Given the description of an element on the screen output the (x, y) to click on. 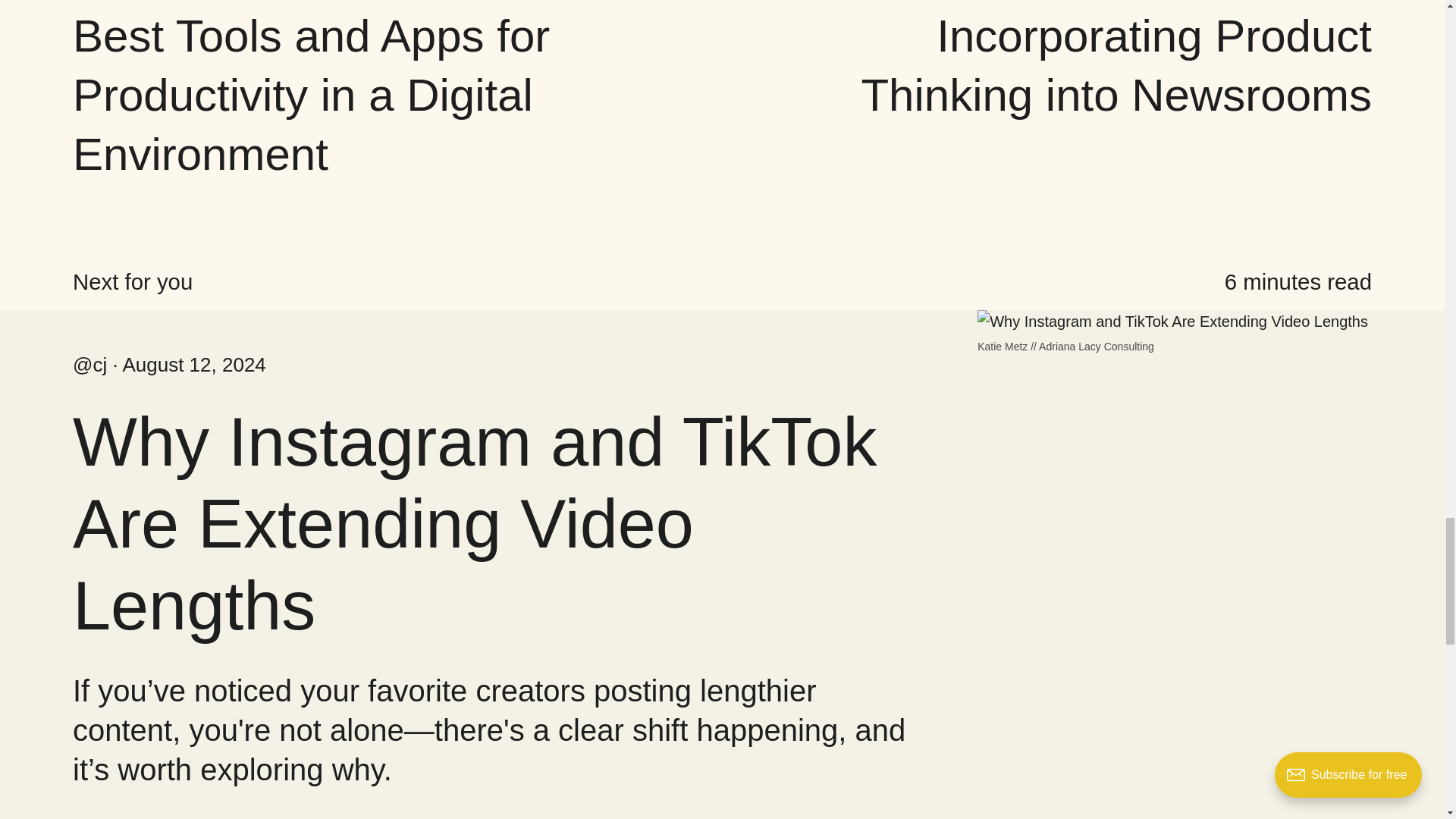
cj (89, 364)
Incorporating Product Thinking into Newsrooms (1115, 65)
